Given the description of an element on the screen output the (x, y) to click on. 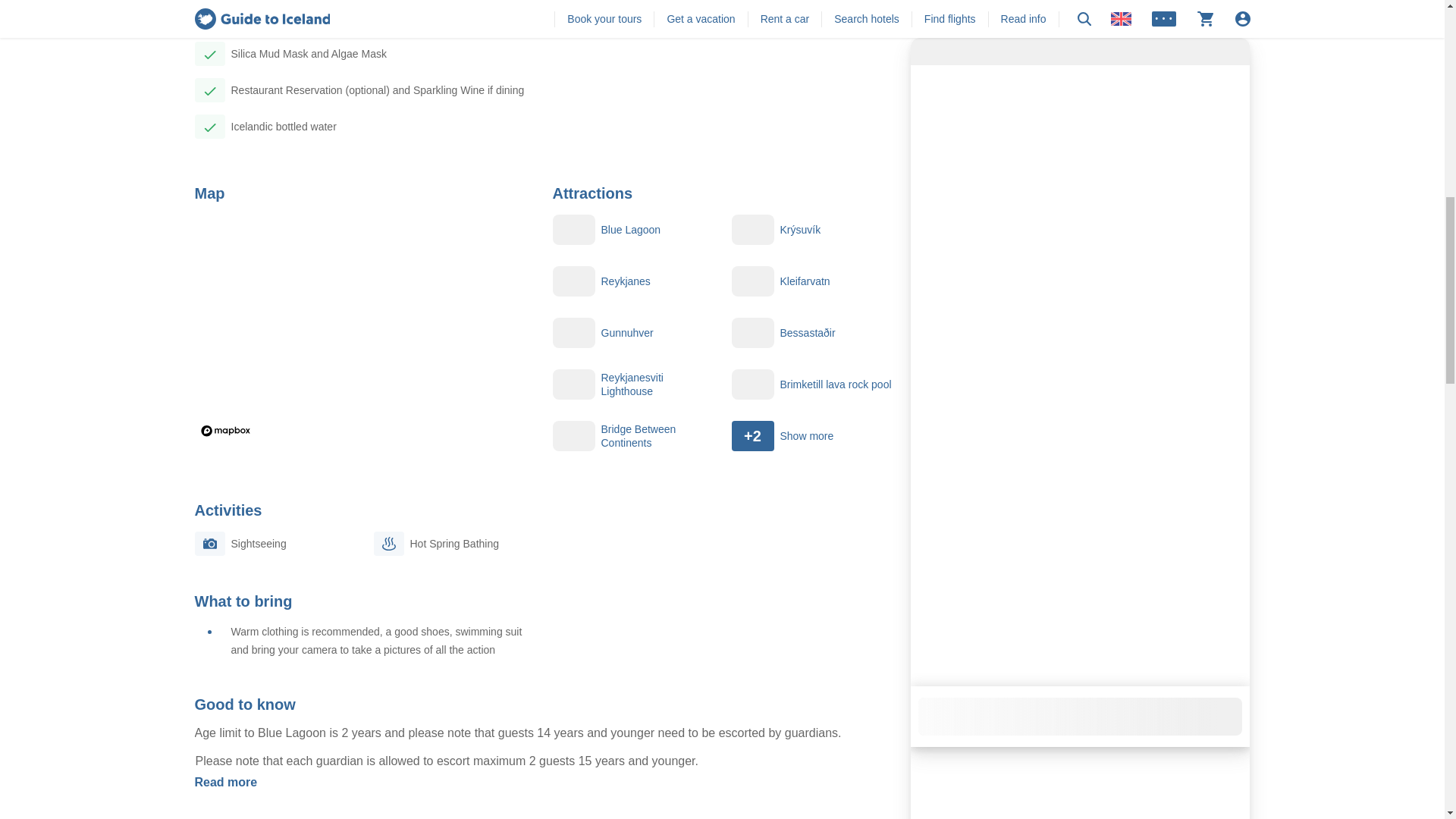
Bridge Between Continents (632, 435)
Reykjanes (632, 281)
Blue Lagoon (632, 229)
Reykjanesviti Lighthouse (632, 384)
Kleifarvatn (810, 281)
Brimketill lava rock pool (810, 384)
Gunnuhver (632, 332)
